Given the description of an element on the screen output the (x, y) to click on. 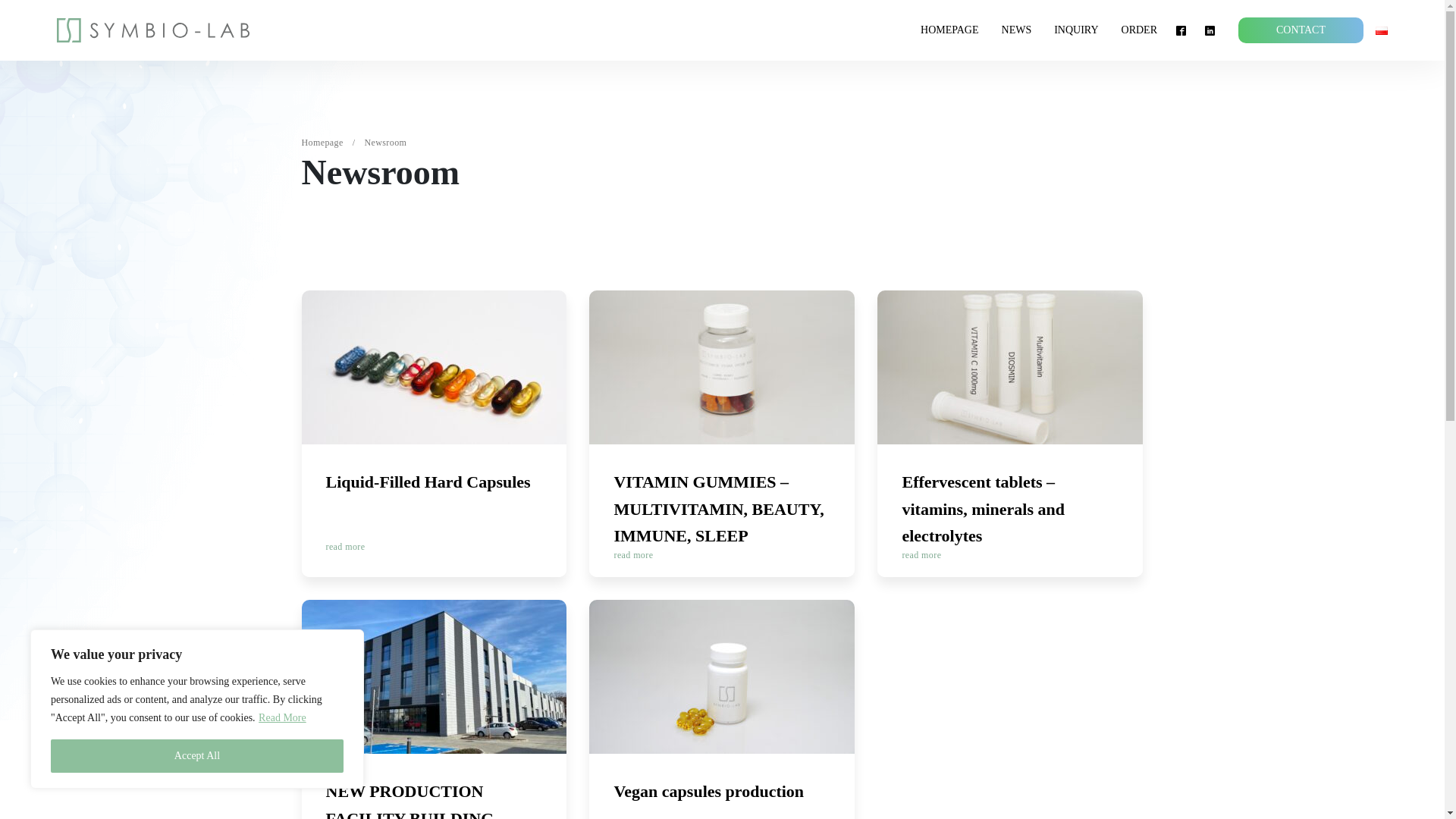
NEWS (1016, 29)
HOMEPAGE (433, 433)
Homepage (949, 29)
HOMEPAGE (322, 142)
NEWS (433, 709)
Homepage (949, 29)
Accept All (1016, 29)
INQUIRY (322, 142)
INQUIRY (196, 756)
ORDER (1075, 29)
CONTACT (1075, 29)
ORDER (1139, 29)
